Given the description of an element on the screen output the (x, y) to click on. 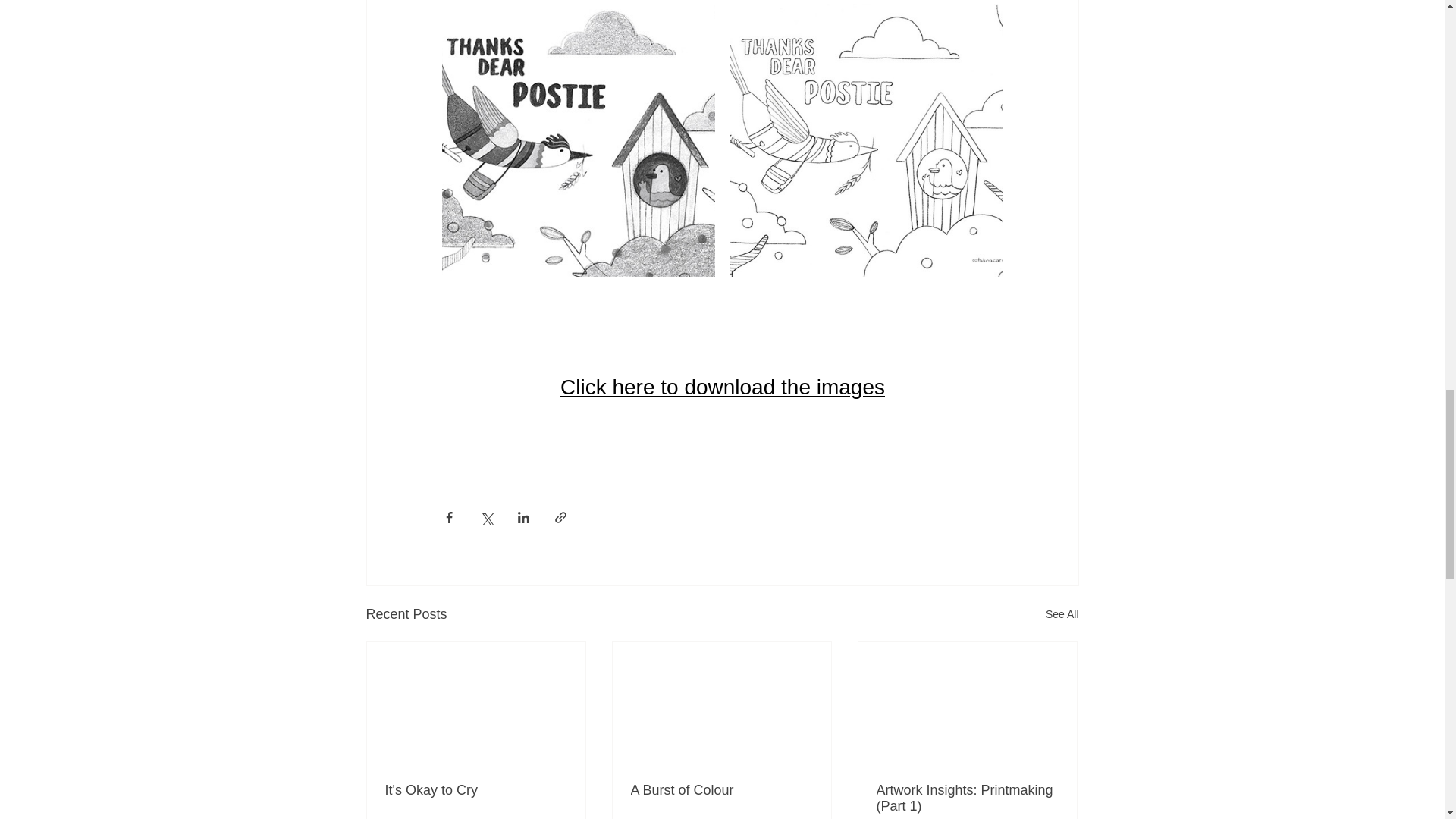
It's Okay to Cry (476, 790)
See All (1061, 614)
A Burst of Colour (721, 790)
Click here to download the images (721, 386)
